Given the description of an element on the screen output the (x, y) to click on. 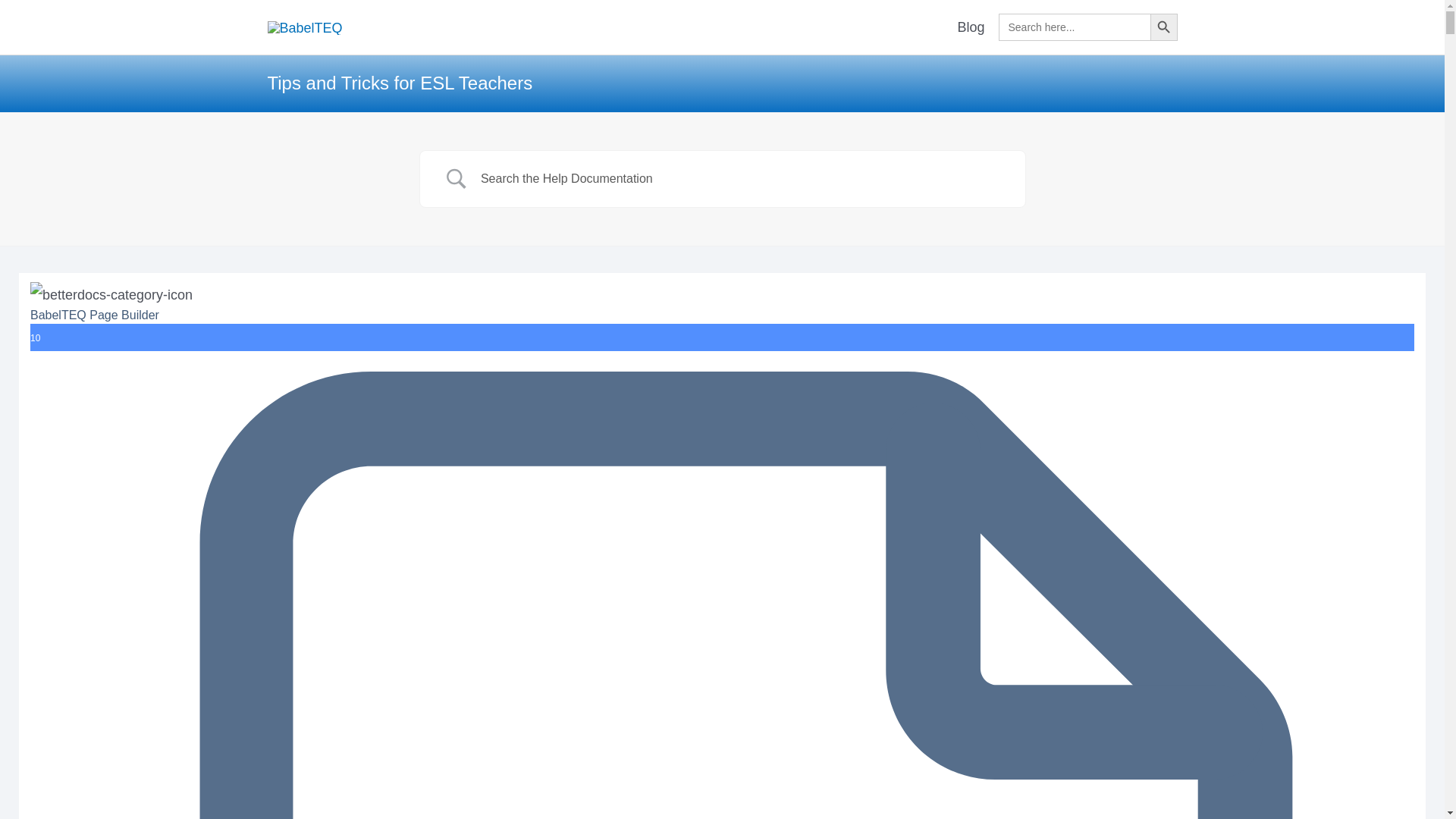
Search Button (1163, 26)
Blog (970, 27)
